Given the description of an element on the screen output the (x, y) to click on. 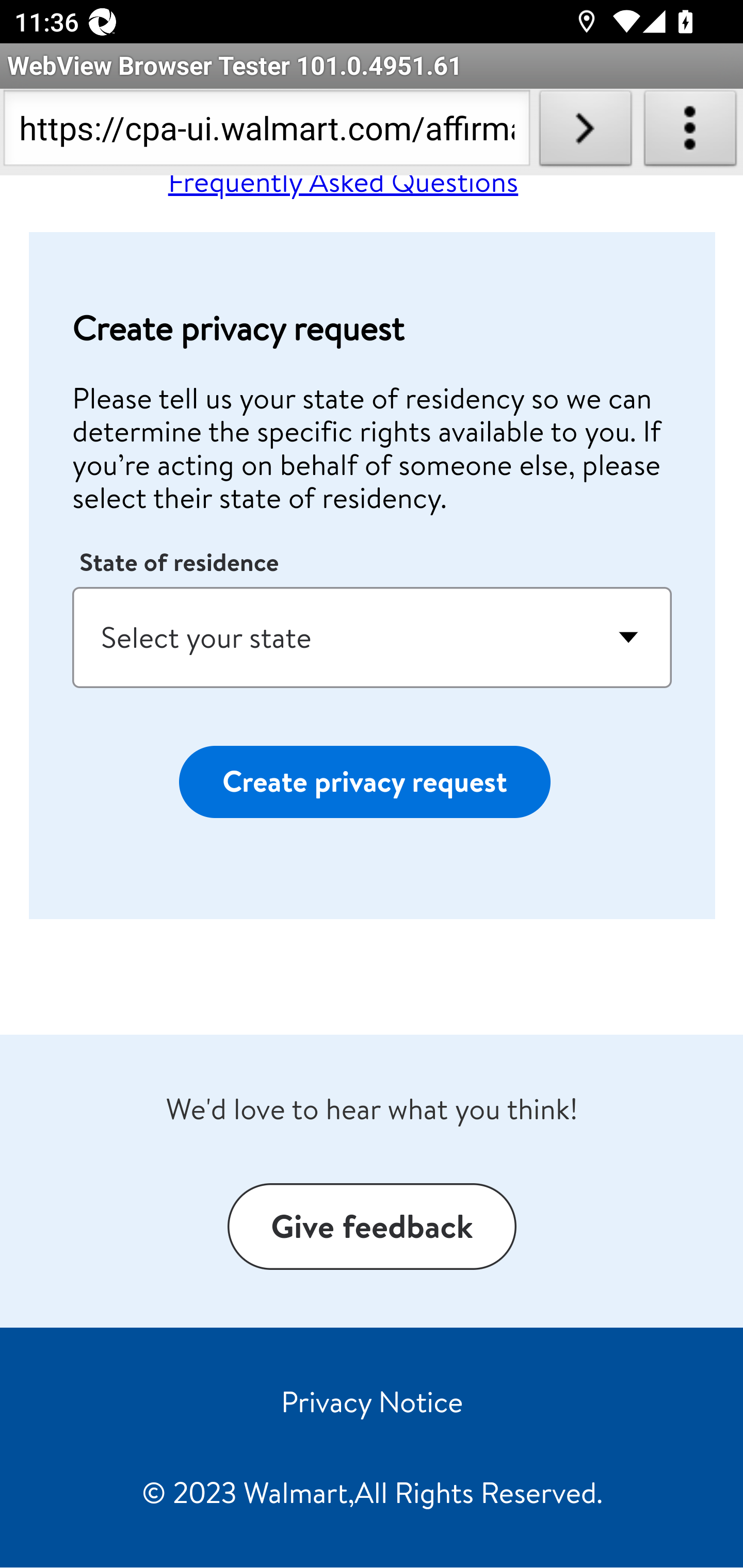
Load URL (585, 132)
About WebView (690, 132)
Frequently Asked Questions (343, 189)
Select your state (372, 637)
Create privacy request (364, 783)
Give feedback (371, 1227)
